Given the description of an element on the screen output the (x, y) to click on. 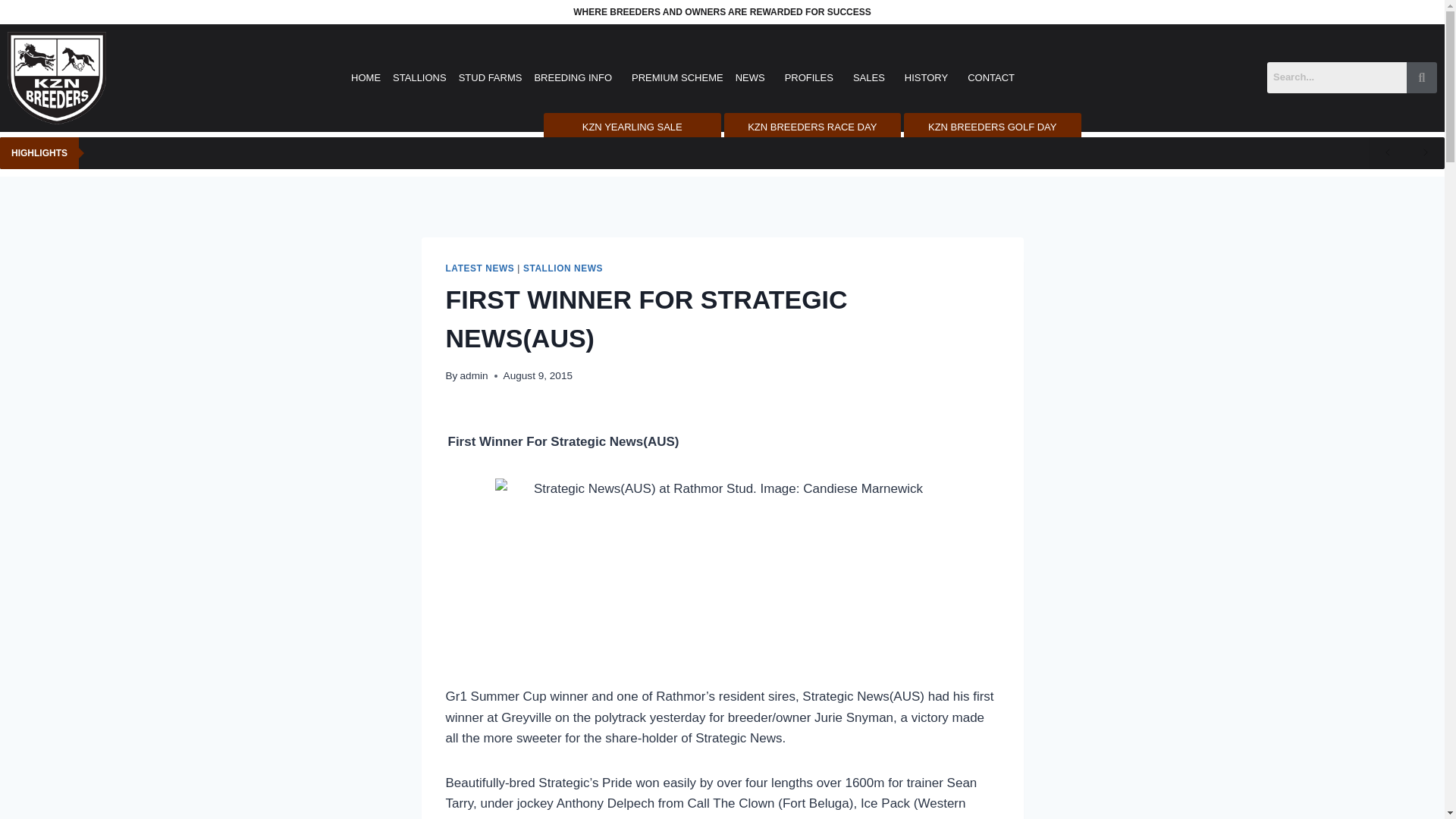
STUD FARMS (490, 77)
Search (1336, 77)
STALLIONS (419, 77)
HOME (366, 77)
